Given the description of an element on the screen output the (x, y) to click on. 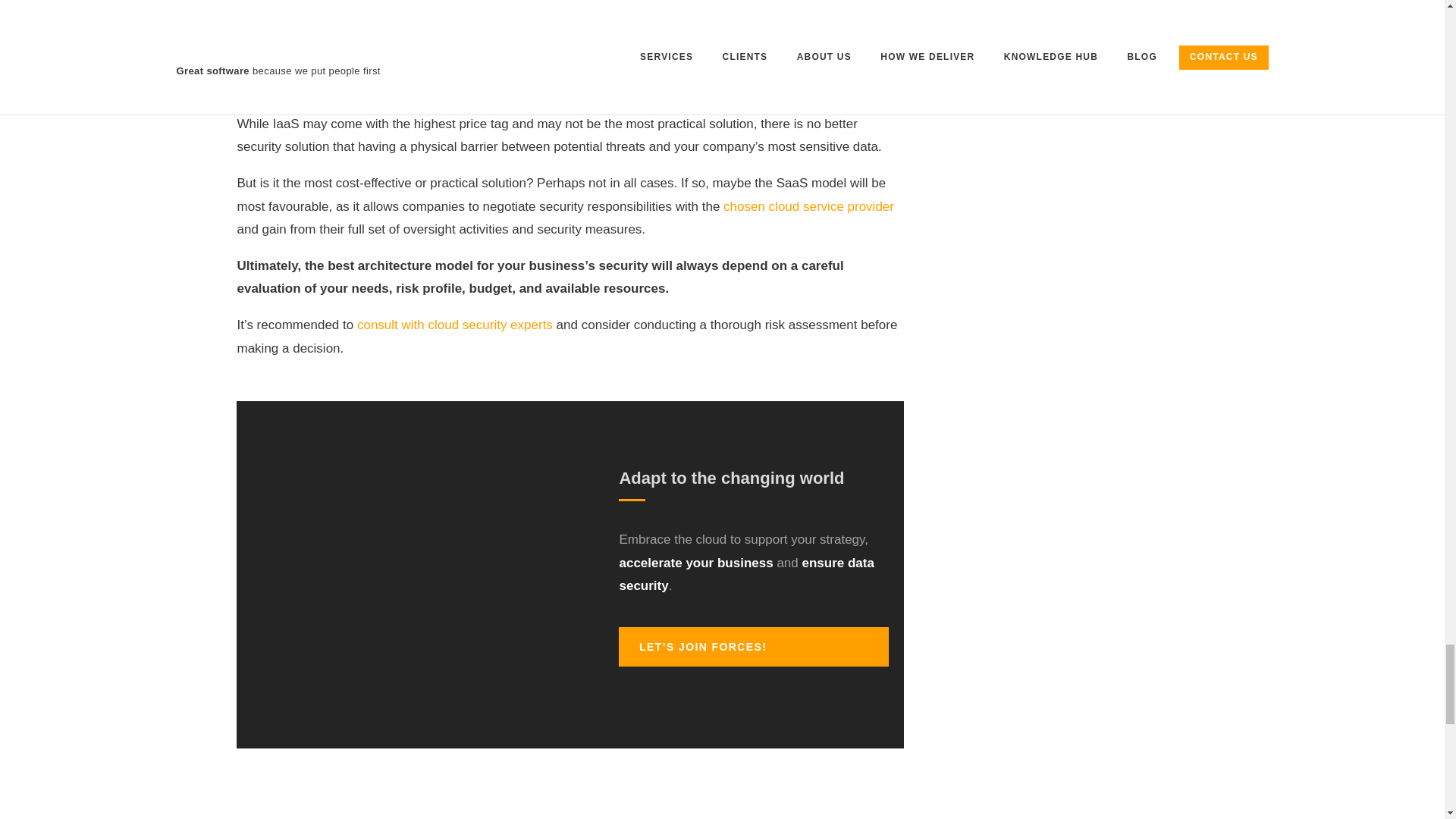
chosen cloud service provider (808, 206)
consult with cloud security experts (454, 324)
